Given the description of an element on the screen output the (x, y) to click on. 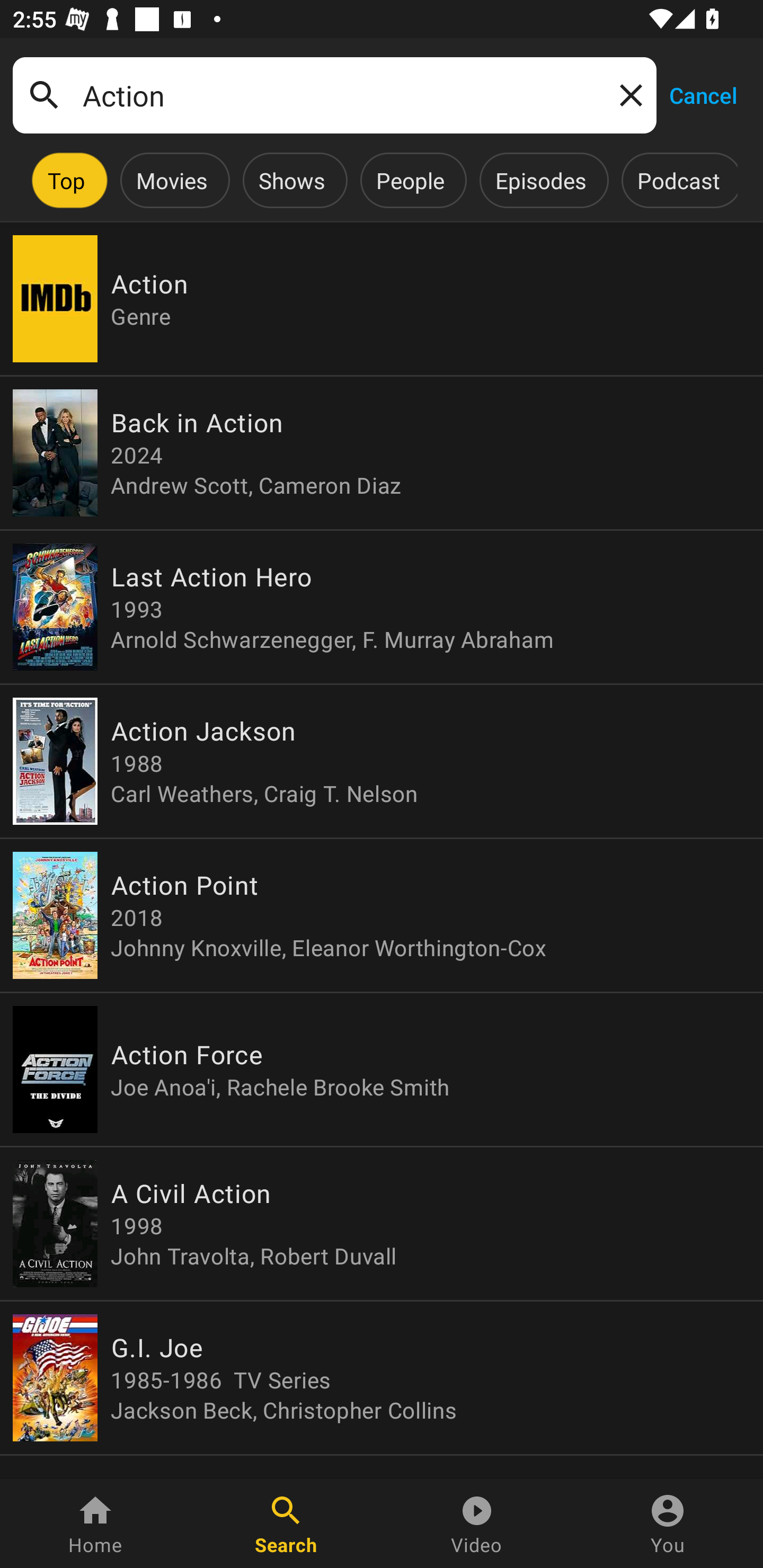
Clear query (627, 94)
Cancel (703, 94)
Action (334, 95)
Top (66, 180)
Movies (171, 180)
Shows (291, 180)
People (410, 180)
Episodes (540, 180)
Podcast (678, 180)
Action Genre (381, 298)
Back in Action 2024 Andrew Scott, Cameron Diaz (381, 452)
Action Jackson 1988 Carl Weathers, Craig T. Nelson (381, 761)
Action Force Joe Anoa'i, Rachele Brooke Smith (381, 1069)
A Civil Action 1998 John Travolta, Robert Duvall (381, 1223)
Home (95, 1523)
Video (476, 1523)
You (667, 1523)
